Given the description of an element on the screen output the (x, y) to click on. 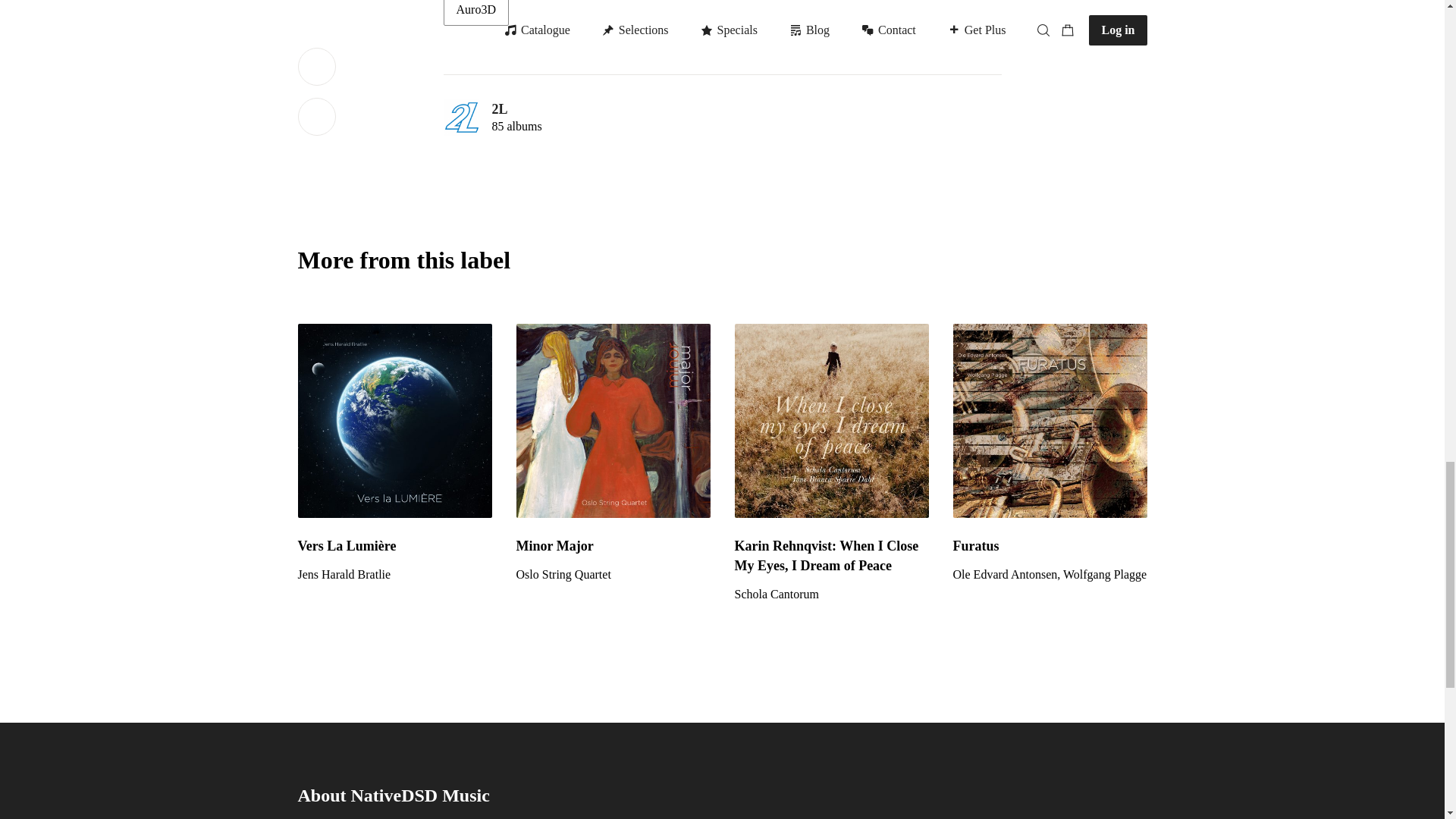
Furatus (1049, 420)
Minor Major (612, 546)
Minor Major (612, 574)
Karin Rehnqvist: When I Close My Eyes, I Dream of Peace (830, 594)
Minor Major (612, 420)
Karin Rehnqvist: When I Close My Eyes, I Dream of Peace (830, 555)
Furatus (1049, 546)
Karin Rehnqvist: When I Close My Eyes, I Dream of Peace (830, 420)
Furatus (1049, 574)
